Given the description of an element on the screen output the (x, y) to click on. 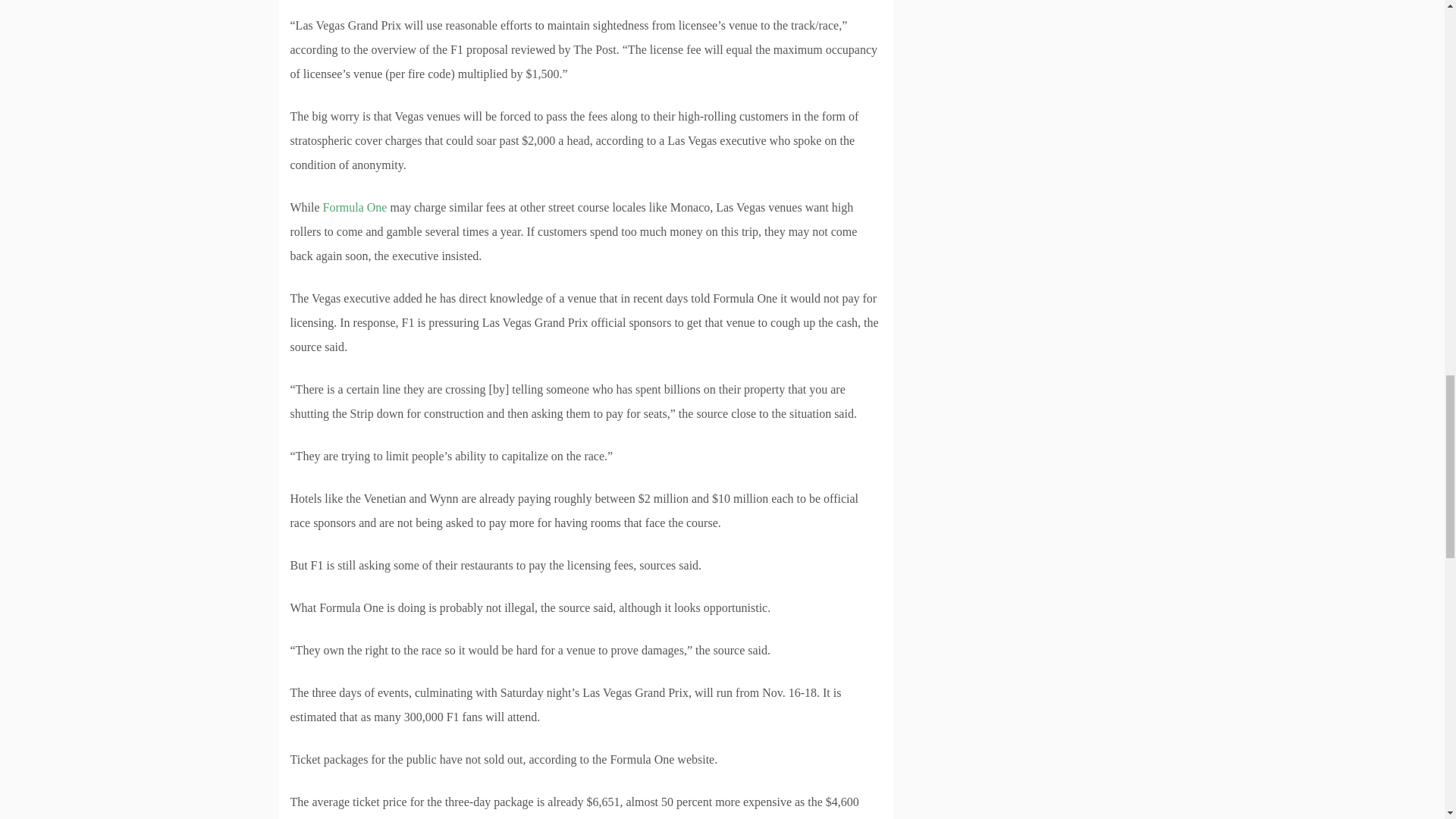
Formula One (355, 206)
